Given the description of an element on the screen output the (x, y) to click on. 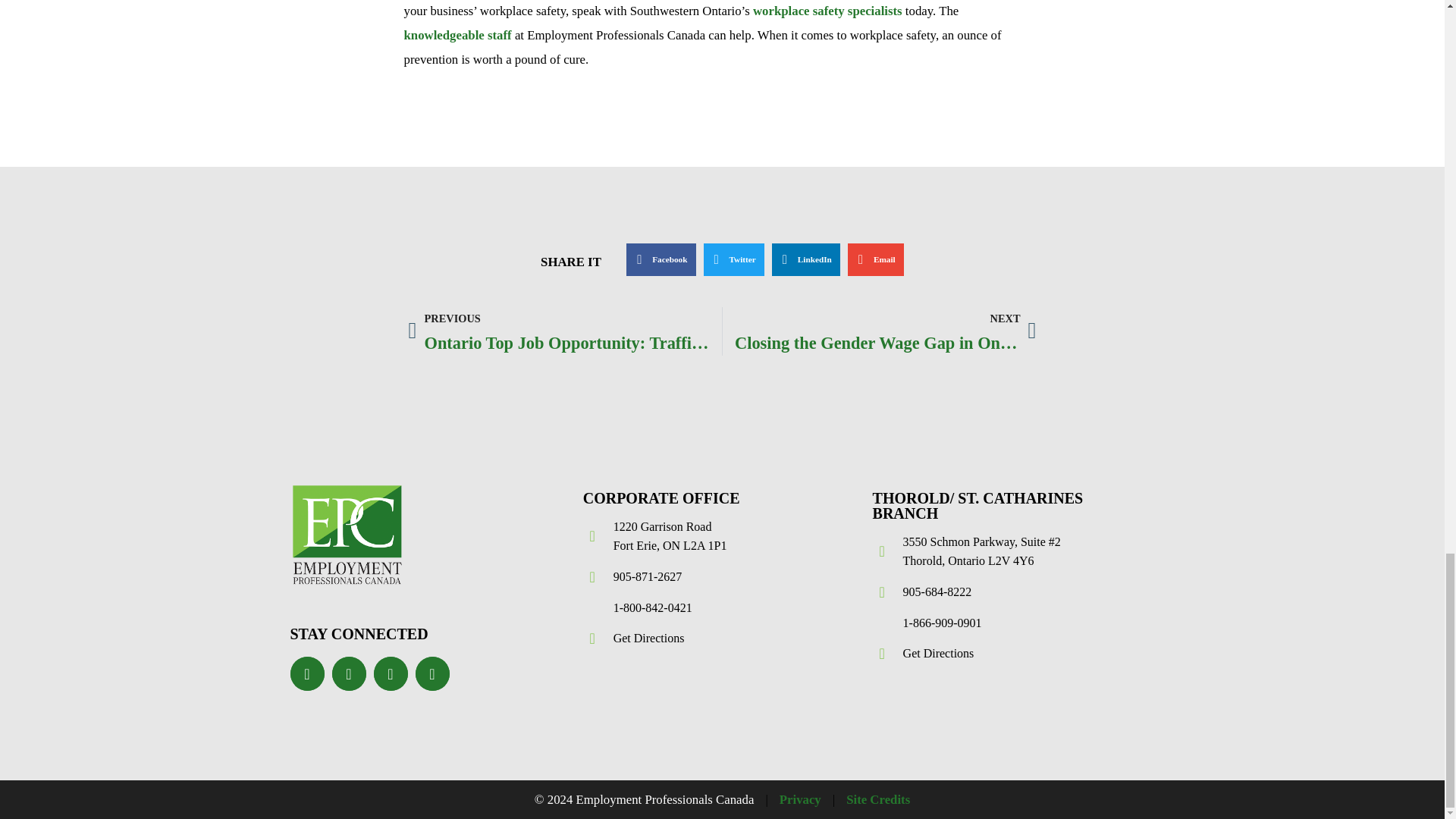
Follow Employment Professionals Canada on Facebook (306, 674)
Follow Employment Professionals Canada on Twitter (348, 673)
Follow Employment Professionals Canada on Instagram (431, 674)
Connect with Employment Professionals Canada on LinkedIn (389, 674)
Follow Employment Professionals Canada on Facebook (306, 673)
Follow Employment Professionals Canada on Instagram (431, 673)
Follow Employment Professionals Canada on Twitter (348, 674)
Connect with Employment Professionals Canada on LinkedIn (389, 673)
